Given the description of an element on the screen output the (x, y) to click on. 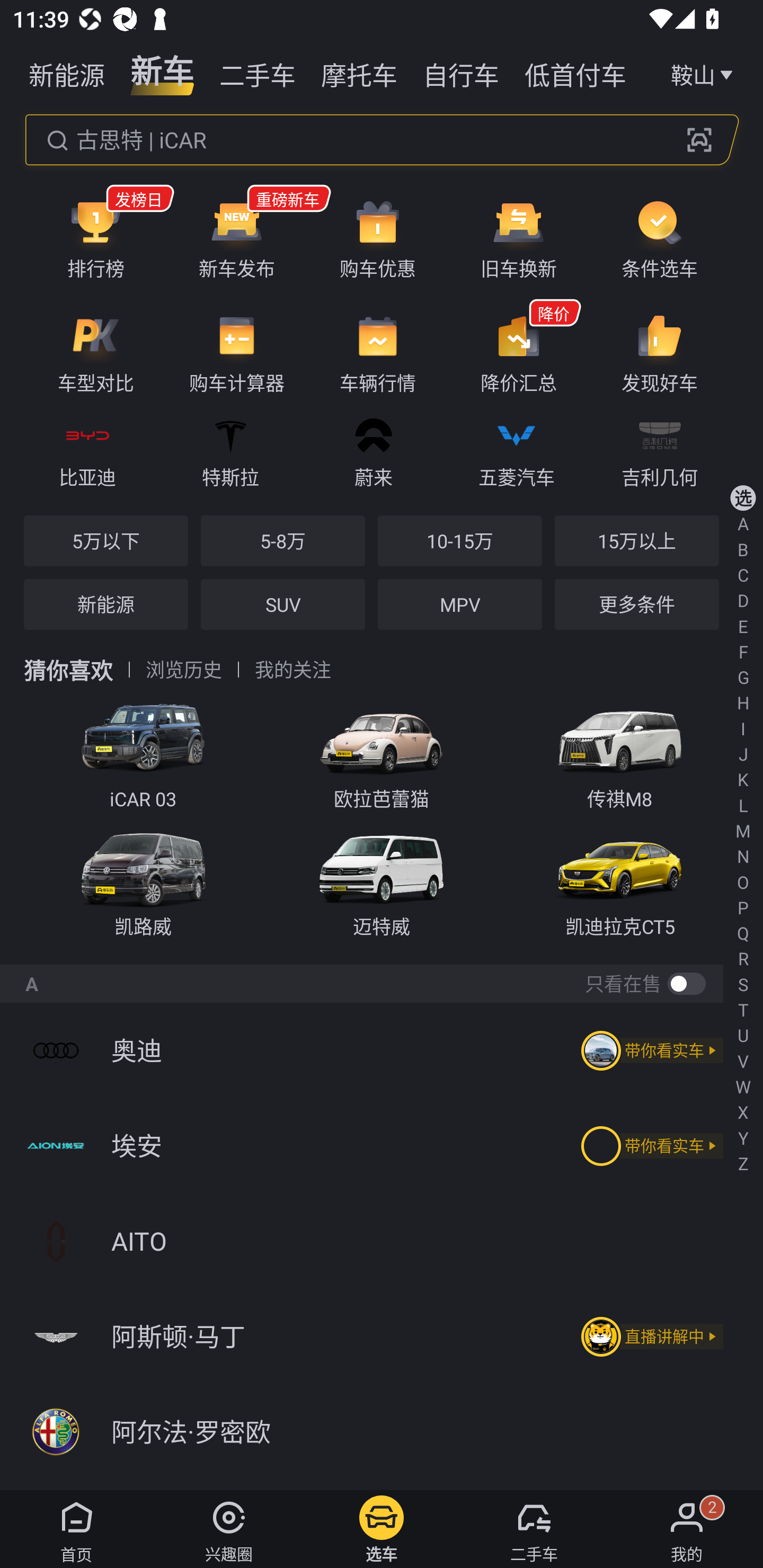
新能源 (66, 72)
新车 (161, 72)
二手车 (257, 72)
摩托车 (359, 72)
自行车 (460, 72)
低首付车 (575, 72)
鞍山 (703, 72)
发榜日 排行榜 (95, 238)
重磅新车 新车发布 (236, 238)
购车优惠 (377, 238)
旧车换新 (518, 238)
条件选车 (659, 238)
车型对比 (95, 352)
购车计算器 (236, 352)
车辆行情 (377, 352)
降价 降价汇总 (518, 352)
发现好车 (659, 352)
比亚迪 (87, 449)
特斯拉 (230, 449)
蔚来 (373, 449)
五菱汽车 (516, 449)
吉利几何 (659, 449)
5万以下 (105, 540)
5-8万 (282, 540)
10-15万 (459, 540)
15万以上 (636, 540)
新能源 (105, 604)
SUV (282, 604)
MPV (459, 604)
更多条件 (636, 604)
猜你喜欢 (67, 669)
浏览历史 (183, 669)
我的关注 (292, 669)
iCAR 03 (142, 750)
欧拉芭蕾猫 (381, 750)
传祺M8 (619, 750)
凯路威 (142, 881)
迈特威 (381, 881)
凯迪拉克CT5 (619, 881)
奥迪 带你看实车  (381, 1050)
带你看实车  (649, 1050)
埃安 带你看实车  (381, 1145)
带你看实车  (649, 1146)
AITO (381, 1240)
阿斯顿·马丁 直播讲解中  (381, 1336)
直播讲解中  (649, 1336)
阿尔法·罗密欧 (381, 1432)
 首页 (76, 1528)
 兴趣圈 (228, 1528)
选车 (381, 1528)
 二手车 (533, 1528)
 我的 (686, 1528)
